Given the description of an element on the screen output the (x, y) to click on. 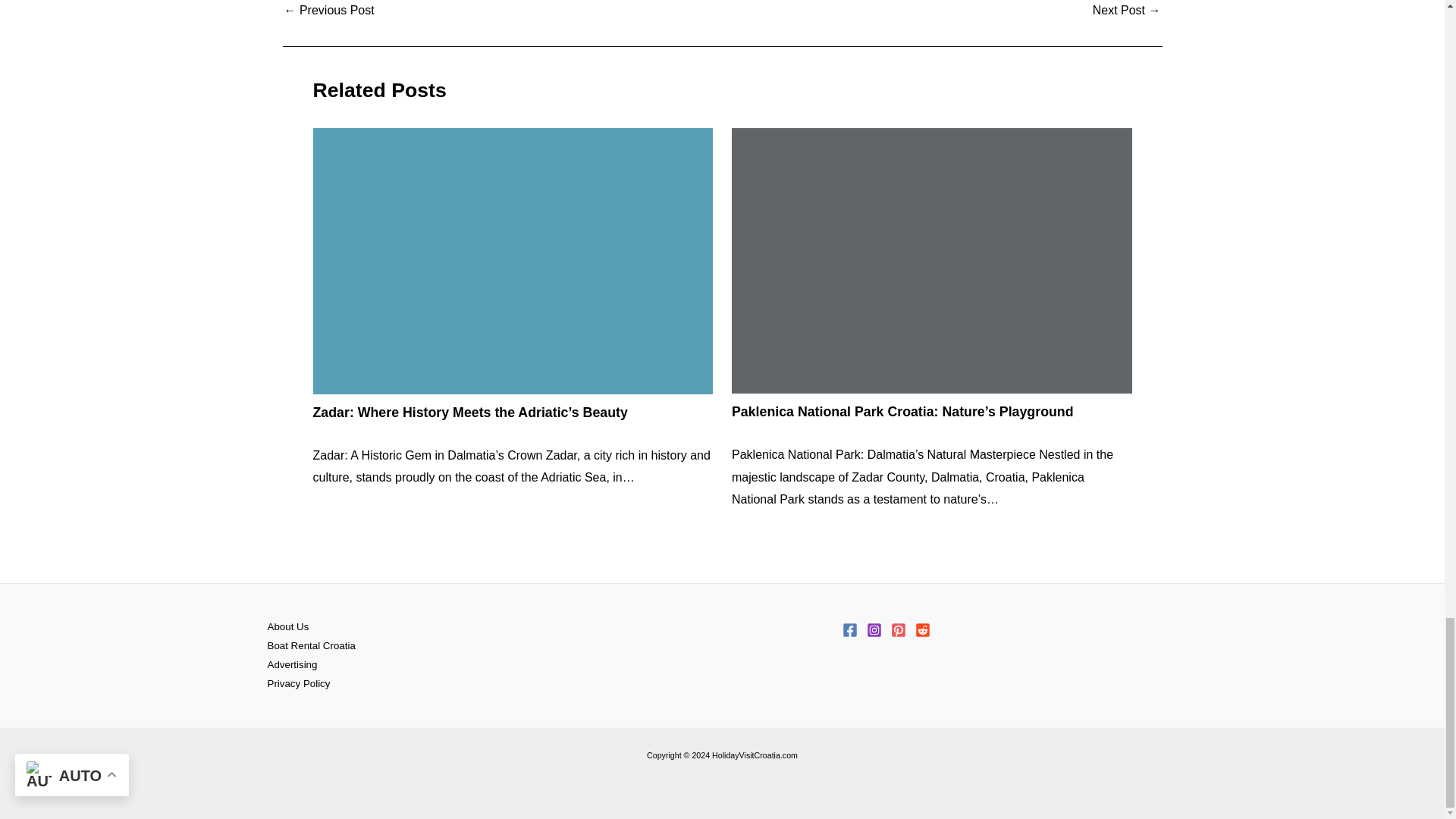
Advertising (291, 665)
Explore Pirovac: A Serene Getaway in Dalmatia (328, 10)
Discover Biograd na Moru: Dalmatia's Coastal Jewel (1126, 10)
Privacy Policy (298, 683)
Boat Rental Croatia (310, 646)
About Us (287, 627)
